Given the description of an element on the screen output the (x, y) to click on. 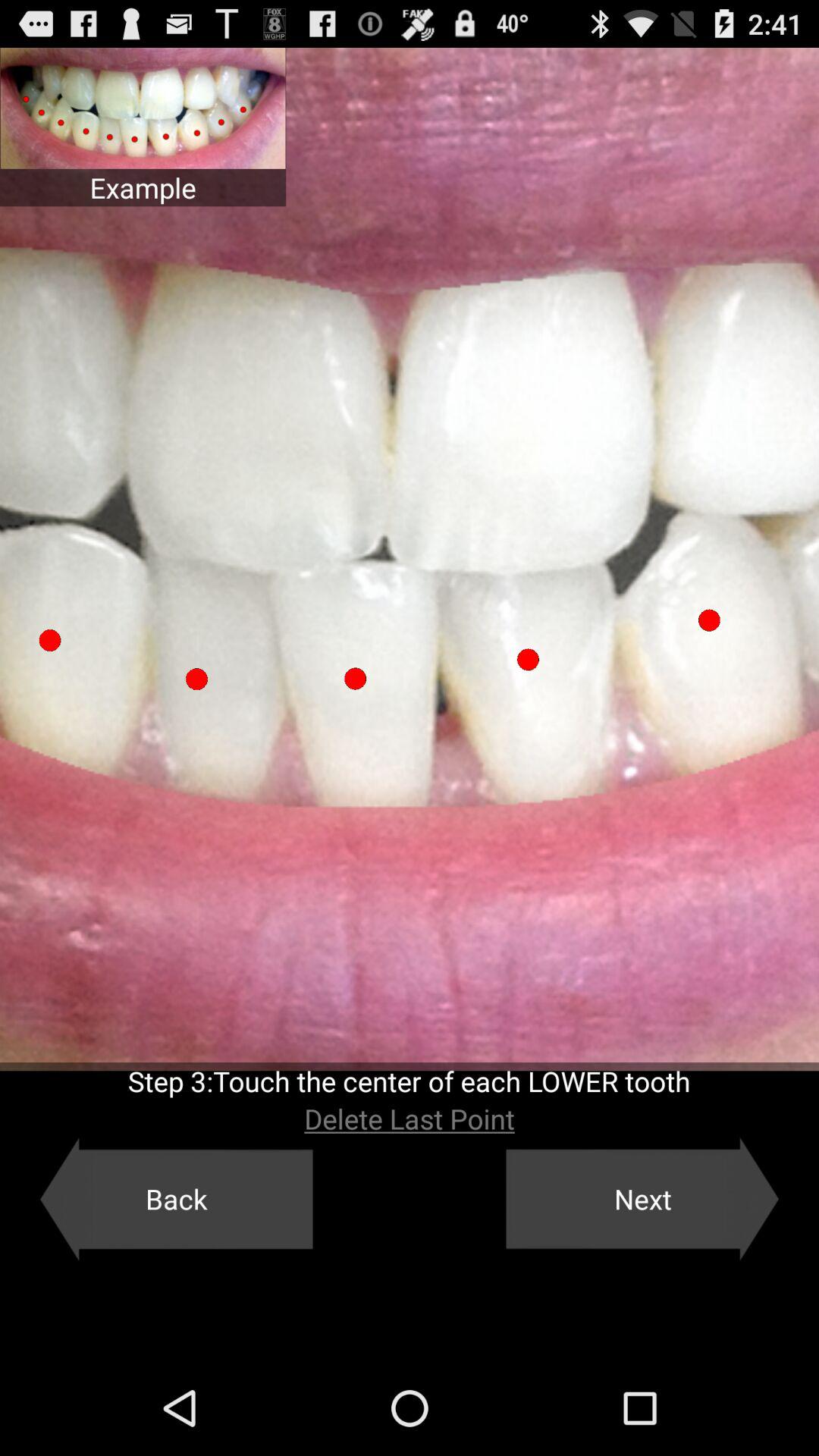
choose item below delete last point app (642, 1198)
